Given the description of an element on the screen output the (x, y) to click on. 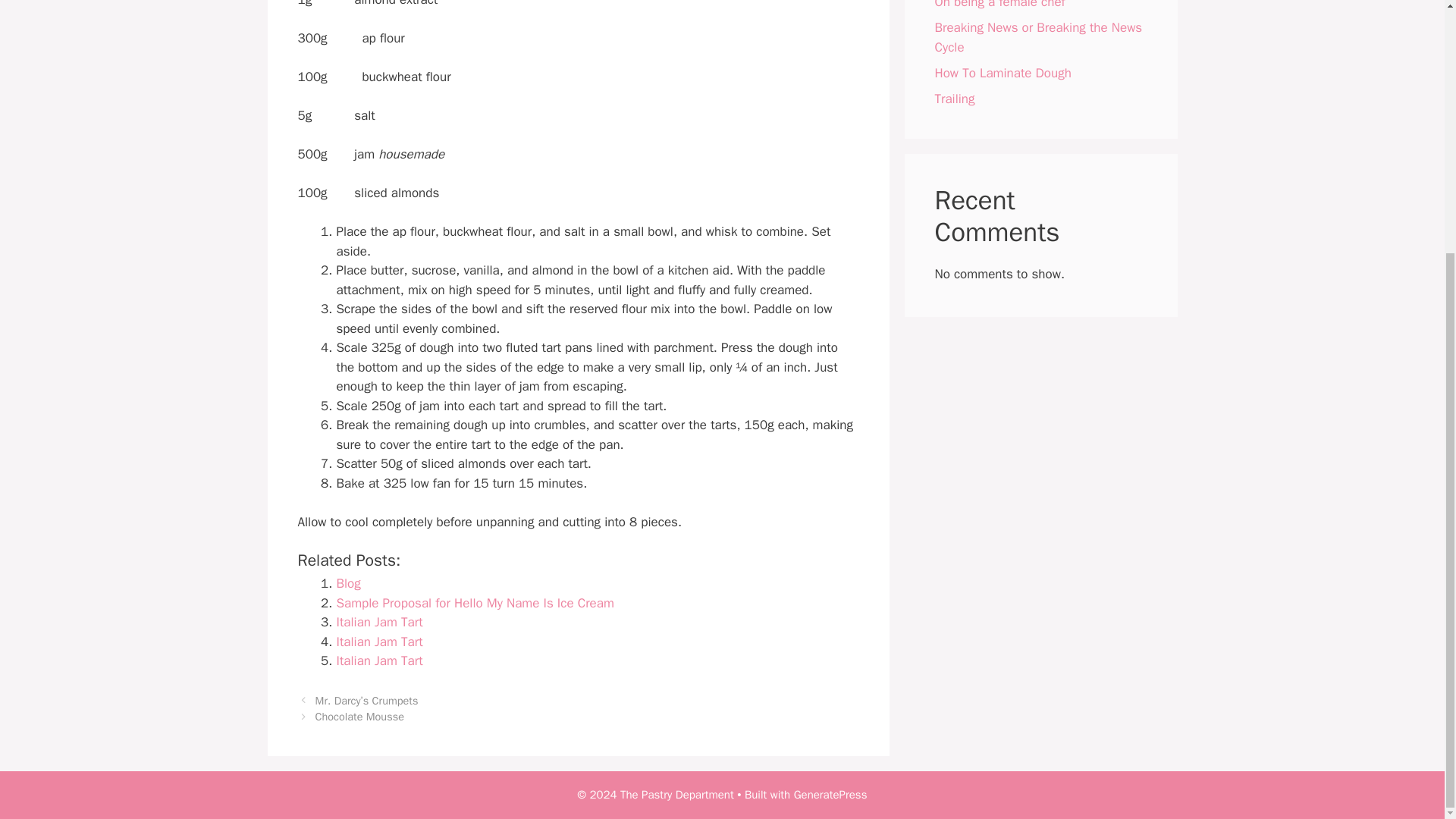
Italian Jam Tart (379, 621)
Italian Jam Tart (379, 621)
On being a female chef (999, 4)
Italian Jam Tart (379, 660)
Blog (348, 583)
How To Laminate Dough (1002, 72)
Italian Jam Tart (379, 641)
Sample Proposal for Hello My Name Is Ice Cream (475, 602)
Chocolate Mousse (359, 716)
Blog (348, 583)
Sample Proposal for Hello My Name Is Ice Cream (475, 602)
Breaking News or Breaking the News Cycle (1037, 37)
Italian Jam Tart (379, 641)
Trailing (954, 98)
GeneratePress (830, 794)
